Given the description of an element on the screen output the (x, y) to click on. 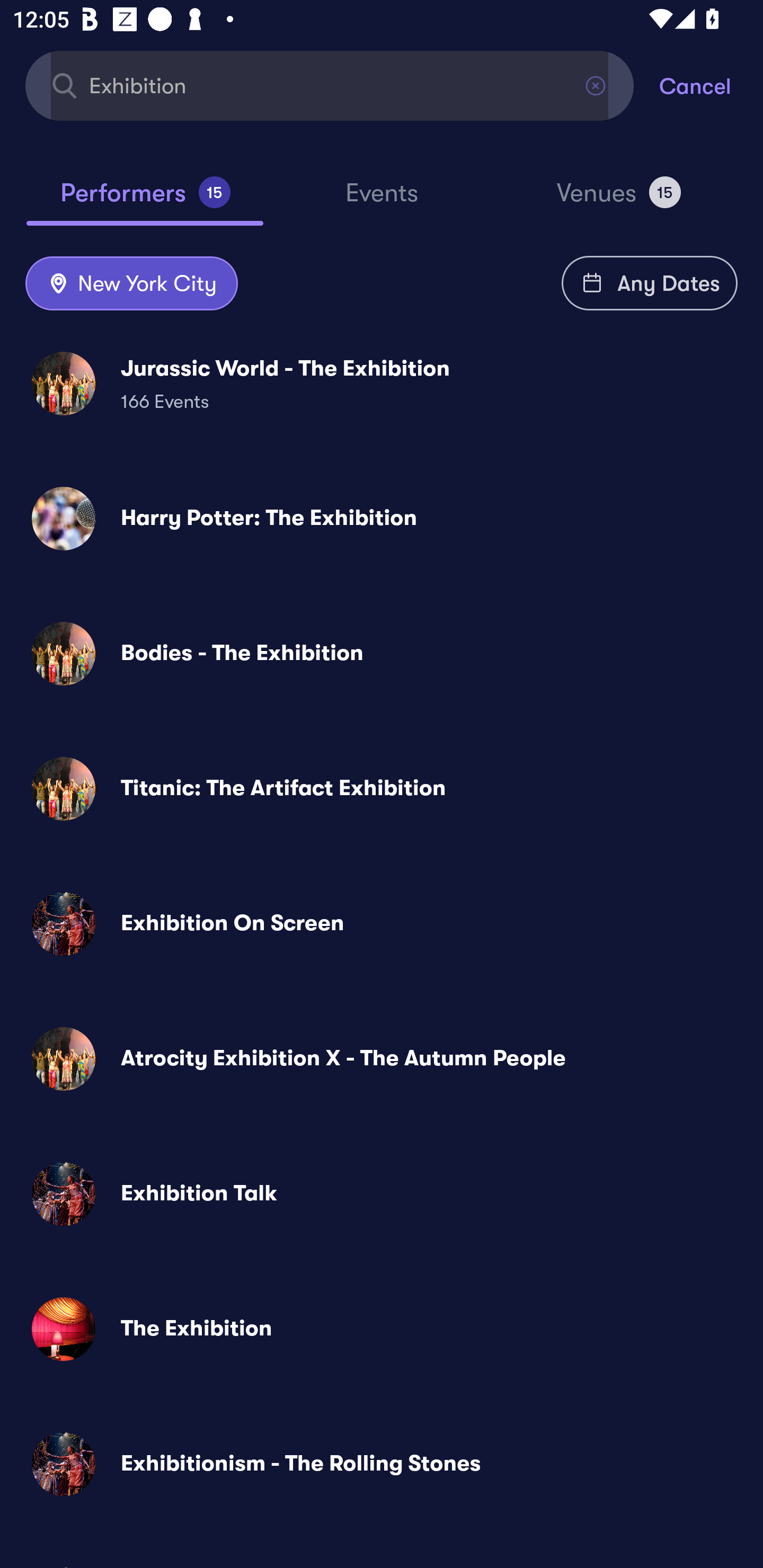
Exhibition Find (329, 85)
Exhibition Find (329, 85)
Cancel (711, 85)
Performers 15 (144, 200)
Venues 15 (618, 200)
Events (381, 201)
Any Dates (649, 282)
New York City (131, 283)
Jurassic World - The Exhibition 166 Events (381, 383)
Harry Potter: The Exhibition (381, 518)
Bodies - The Exhibition (381, 652)
Titanic: The Artifact Exhibition (381, 788)
Exhibition On Screen (381, 924)
Atrocity Exhibition X - The Autumn People (381, 1059)
Exhibition Talk (381, 1193)
The Exhibition (381, 1328)
Exhibitionism - The Rolling Stones (381, 1463)
